Given the description of an element on the screen output the (x, y) to click on. 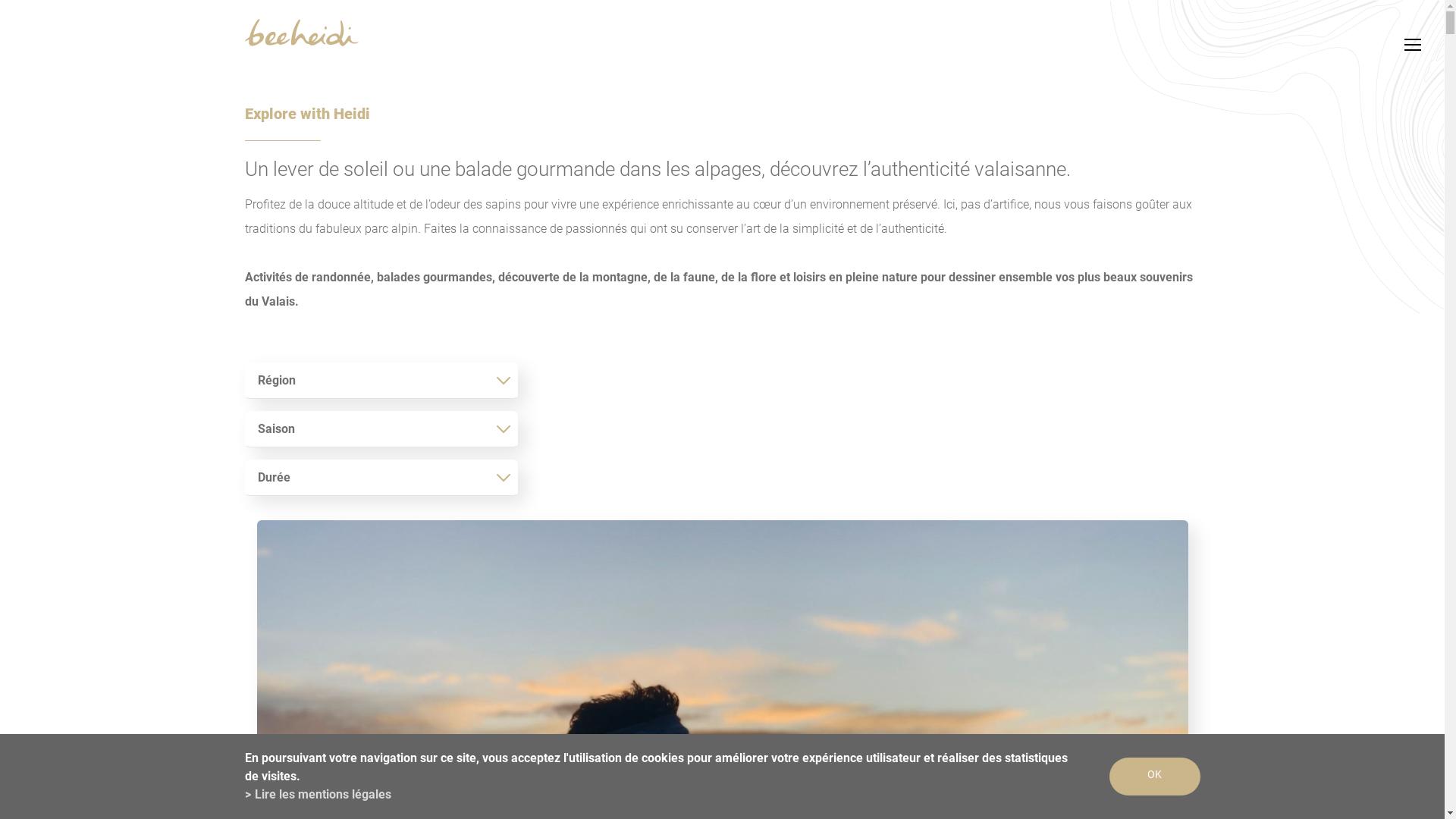
OK Element type: text (1153, 776)
